Given the description of an element on the screen output the (x, y) to click on. 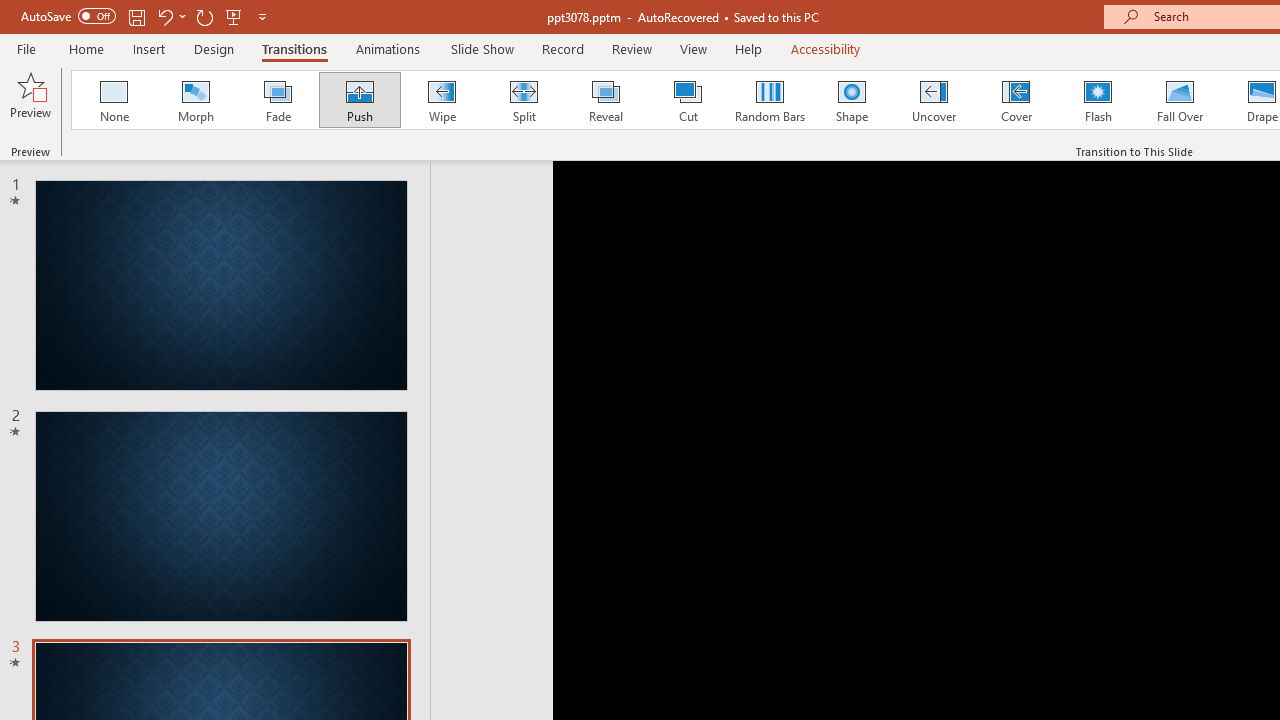
Cover (1016, 100)
Split (523, 100)
Shape (852, 100)
